Given the description of an element on the screen output the (x, y) to click on. 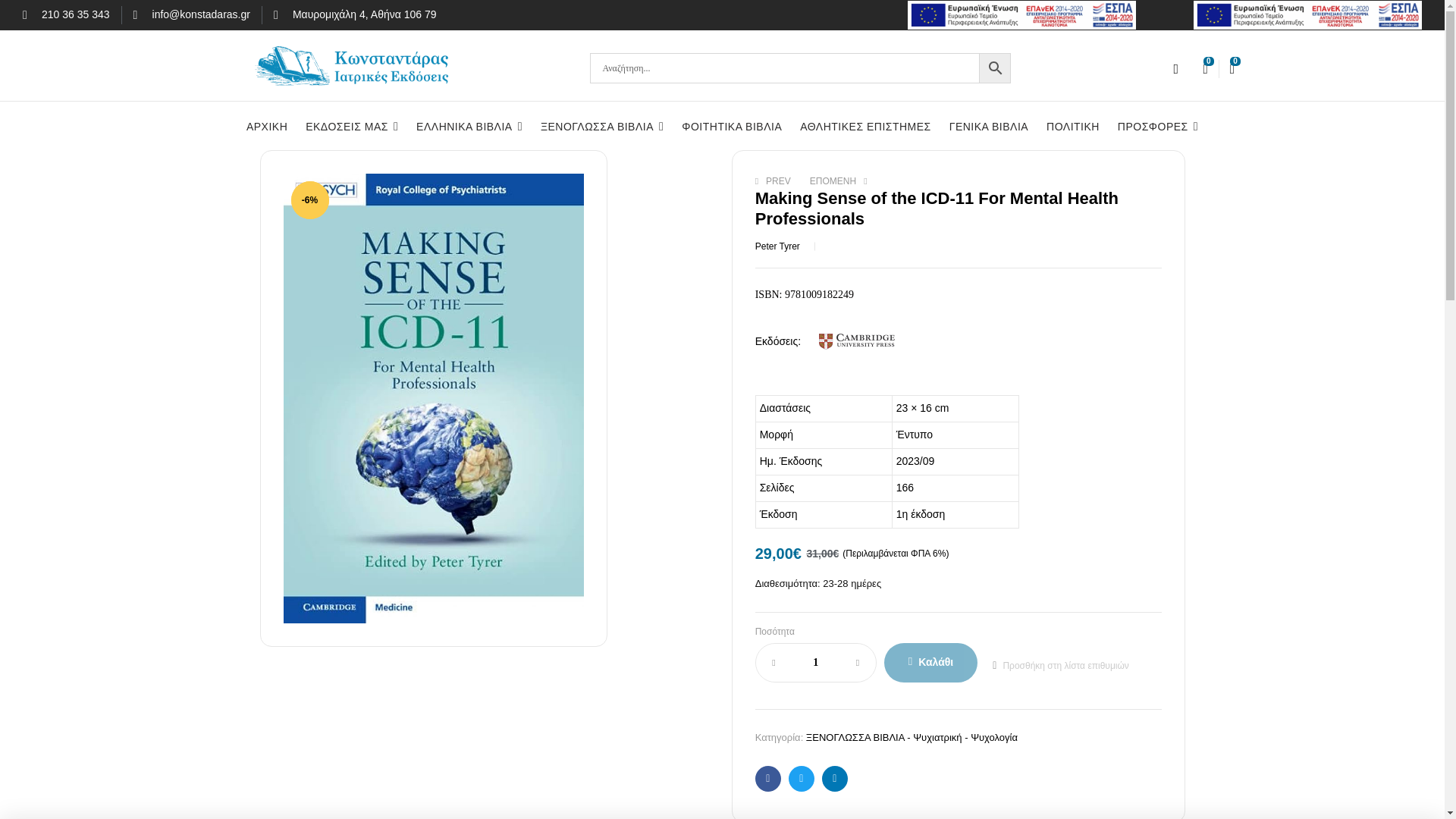
Share on Twitter (801, 778)
Qty (816, 662)
1 (816, 662)
Share on LinkedIn (834, 778)
Share on facebook (767, 778)
login (1175, 71)
210 36 35 343 (66, 14)
login aria-label (1175, 69)
